Given the description of an element on the screen output the (x, y) to click on. 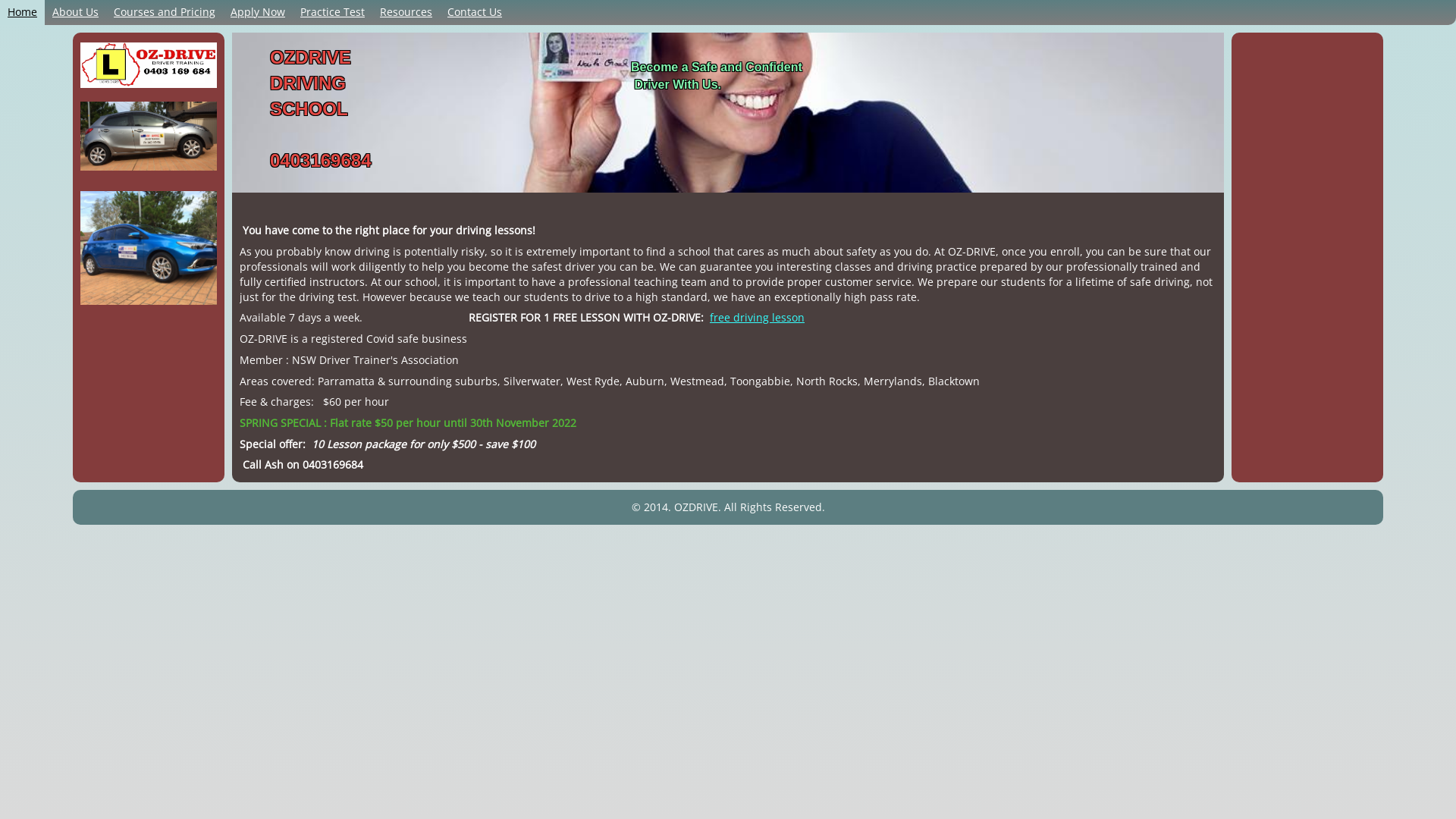
Home Element type: text (22, 12)
free driving lesson Element type: text (756, 317)
Contact Us Element type: text (474, 12)
Practice Test Element type: text (332, 12)
Apply Now Element type: text (257, 12)
OZDRIVE
DRIVING 
SCHOOL

0403169684 Element type: text (319, 108)
Become a Safe and Confident
 Driver With Us. Element type: text (716, 75)
Courses and Pricing Element type: text (164, 12)
About Us Element type: text (75, 12)
Resources Element type: text (405, 12)
